Given the description of an element on the screen output the (x, y) to click on. 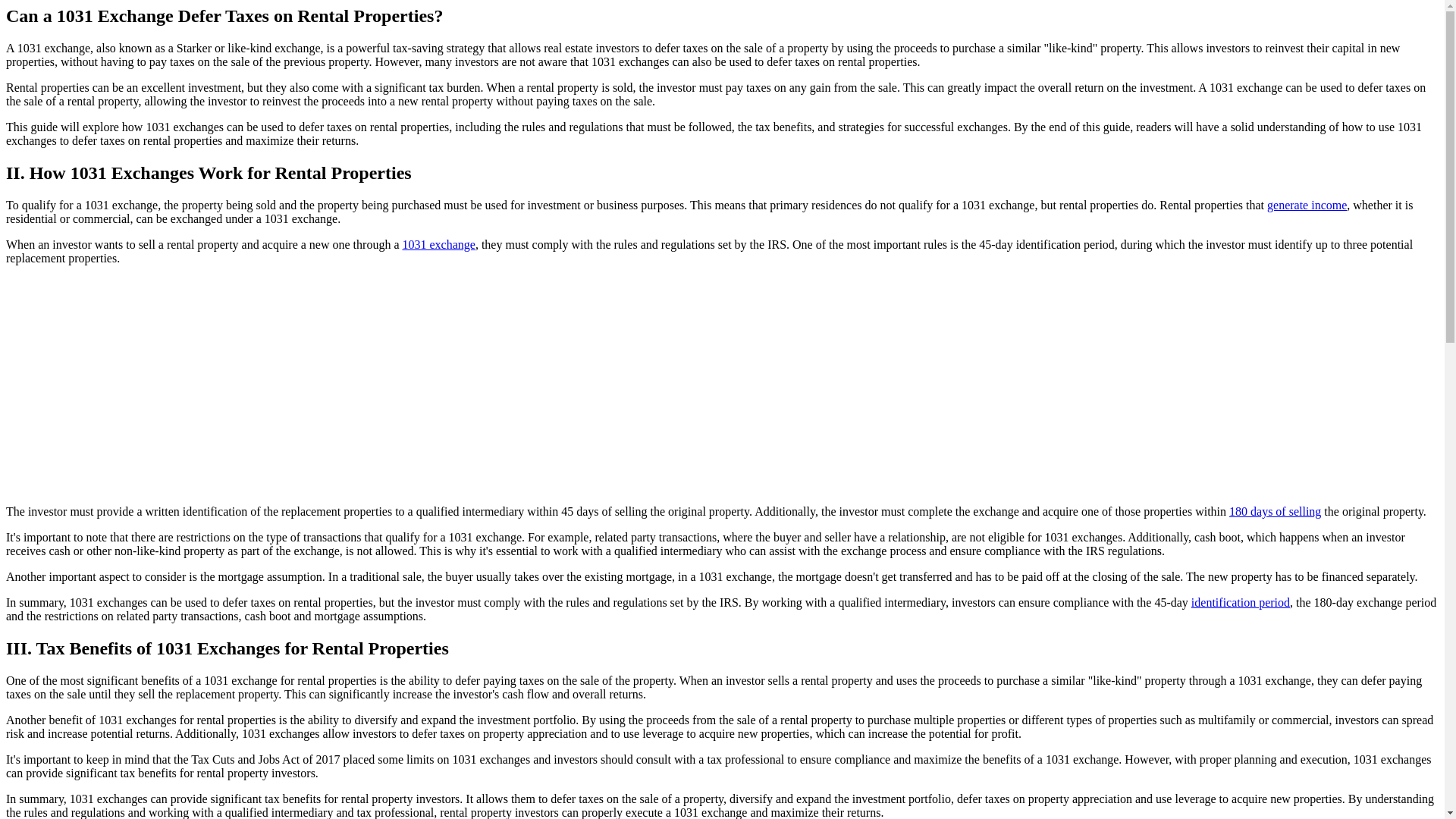
1031 exchange (437, 244)
180 days of selling (1274, 511)
identification period (1240, 602)
generate income (1306, 205)
